Given the description of an element on the screen output the (x, y) to click on. 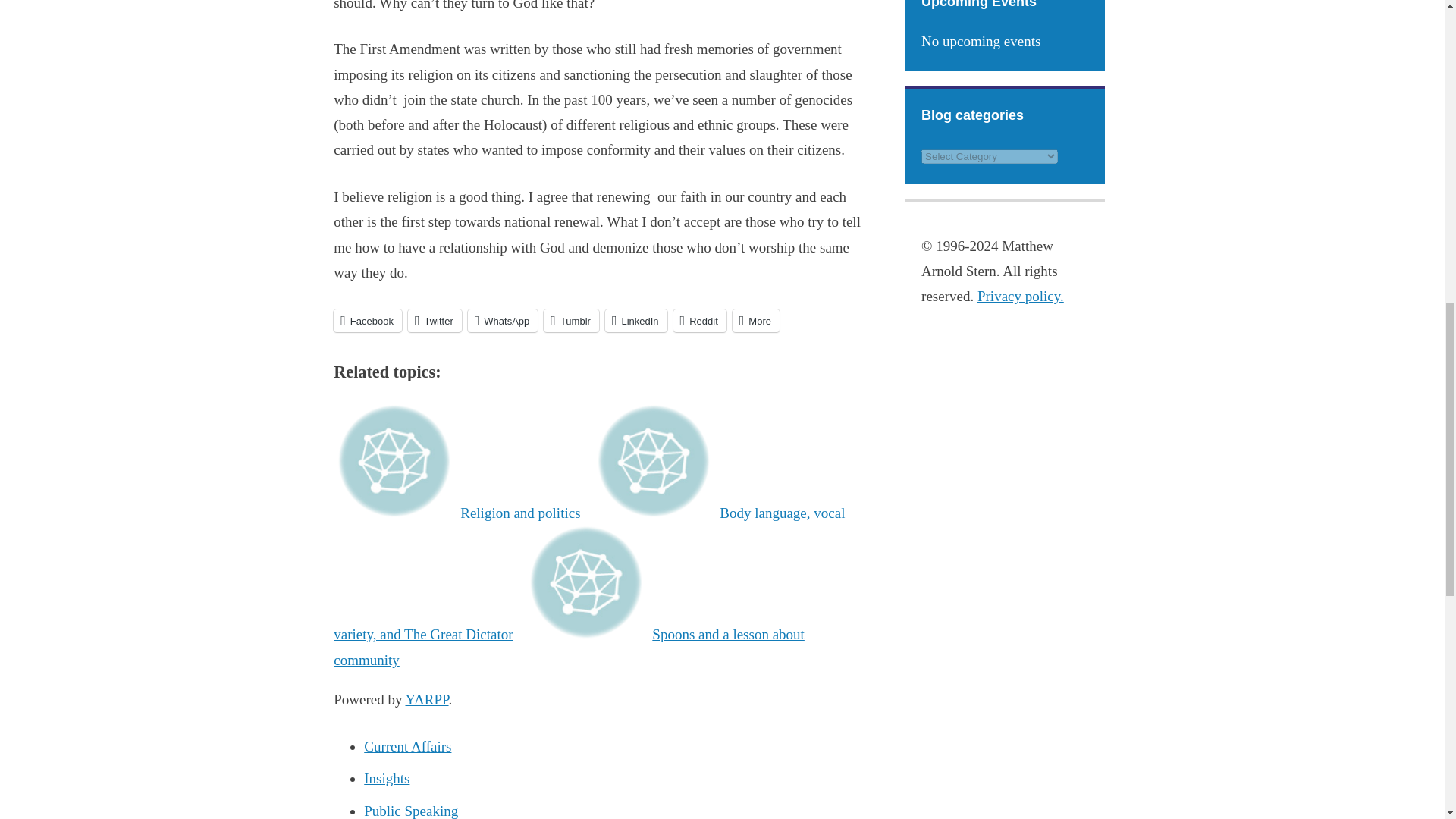
Religion and politics (459, 512)
Religion and politics (459, 512)
Click to share on WhatsApp (502, 320)
Click to share on Tumblr (570, 320)
Click to share on LinkedIn (635, 320)
WhatsApp (502, 320)
Click to share on Facebook (367, 320)
Reddit (699, 320)
Twitter (434, 320)
Body language, vocal variety, and The Great Dictator (588, 573)
Click to share on Reddit (699, 320)
WordPress Related Posts (426, 699)
Facebook (367, 320)
Tumblr (570, 320)
LinkedIn (635, 320)
